Given the description of an element on the screen output the (x, y) to click on. 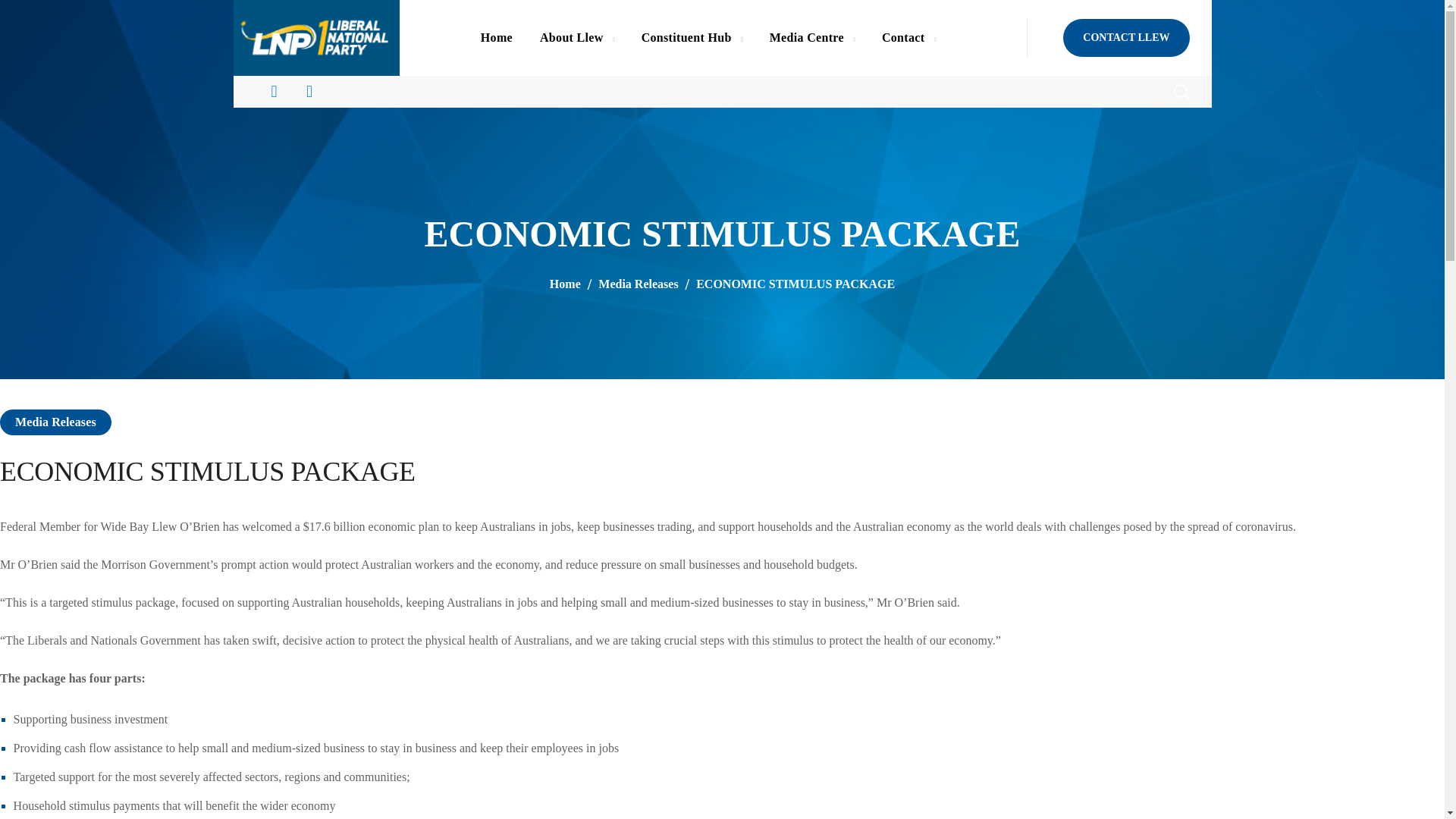
Media Centre (811, 38)
Search (1141, 137)
About Llew (576, 38)
Constituent Hub (691, 38)
CONTACT LLEW (1125, 37)
Contact (908, 38)
